Given the description of an element on the screen output the (x, y) to click on. 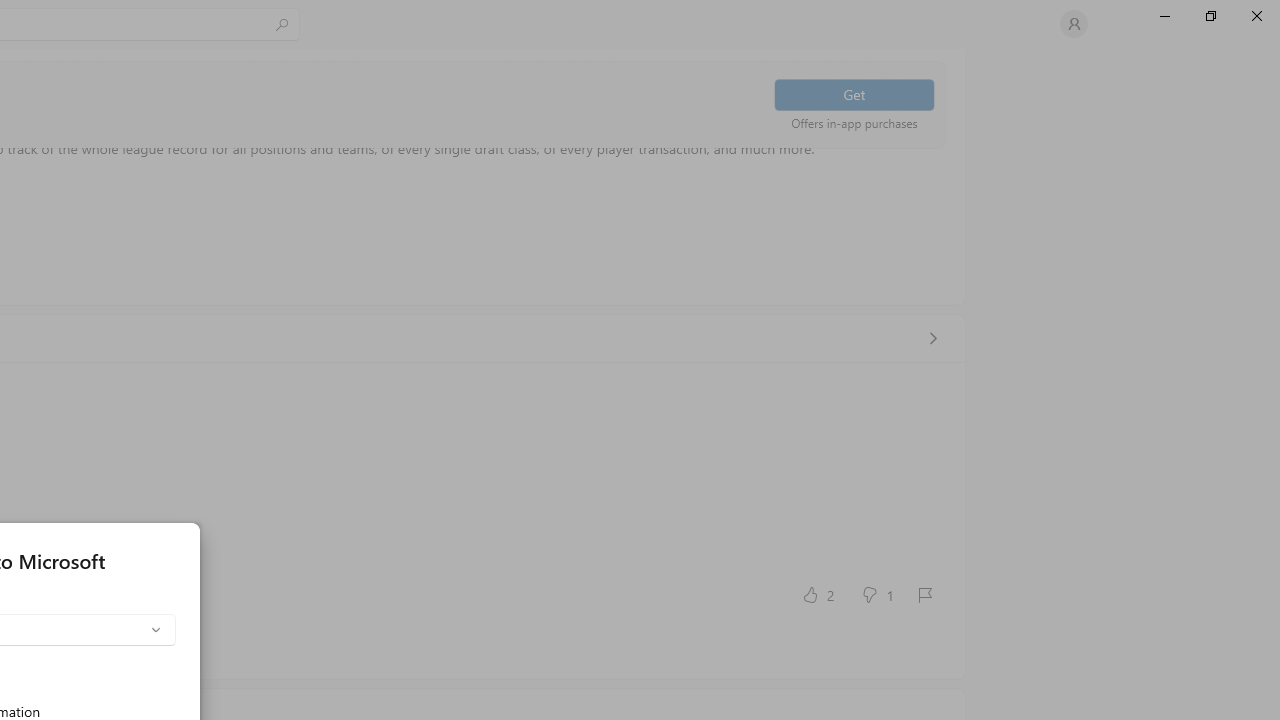
No, this was not helpful. 1 votes. (875, 593)
Report review (924, 594)
Restore Microsoft Store (1210, 15)
Minimize Microsoft Store (1164, 15)
Close Microsoft Store (1256, 15)
Get (854, 94)
Show all ratings and reviews (932, 337)
User profile (1073, 24)
Yes, this was helpful. 2 votes. (816, 593)
